Given the description of an element on the screen output the (x, y) to click on. 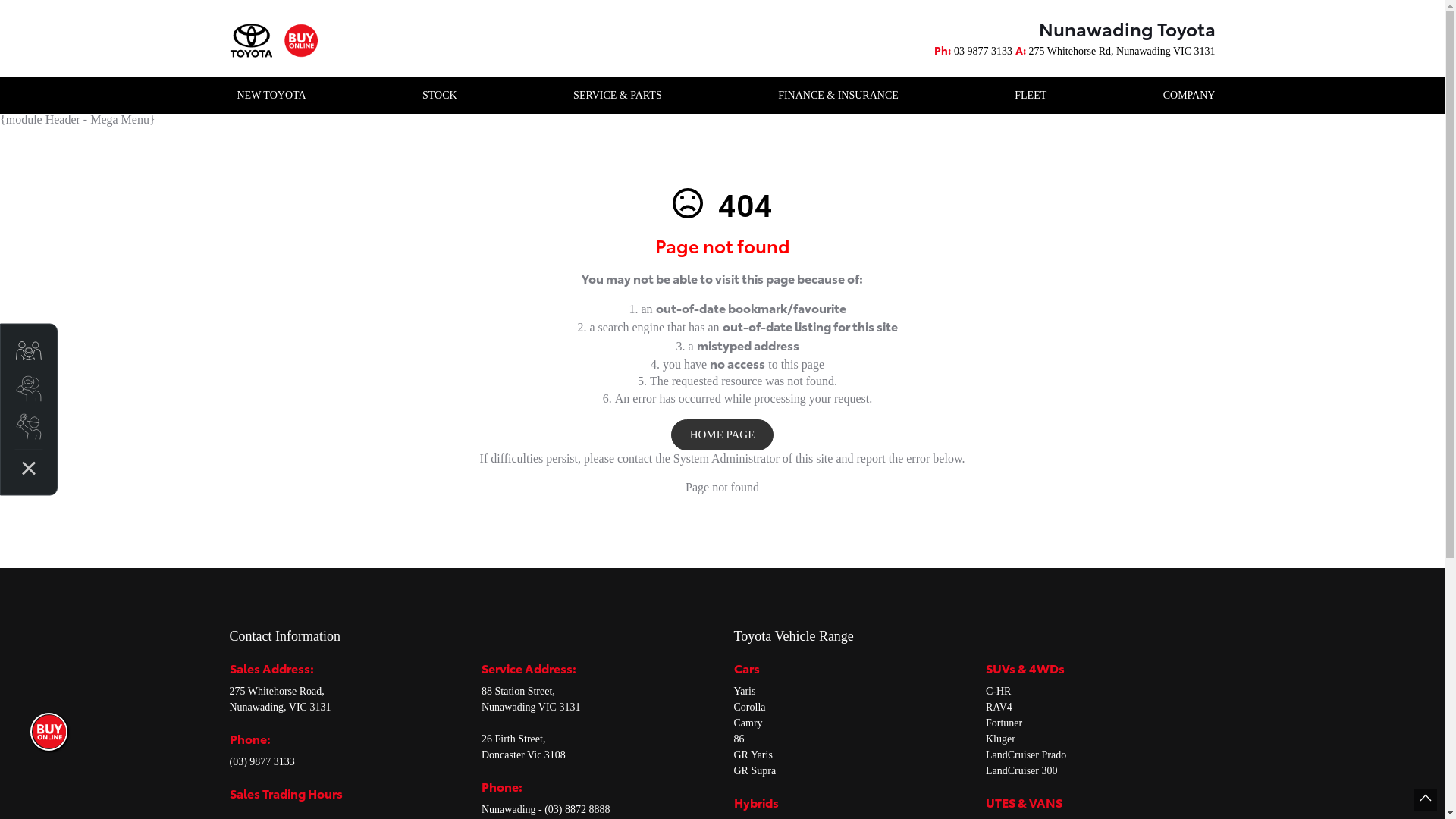
FLEET Element type: text (1030, 95)
86 Element type: text (739, 738)
GR Supra Element type: text (755, 770)
A: 275 Whitehorse Rd, Nunawading VIC 3131 Element type: text (1115, 50)
RAV4 Element type: text (998, 706)
Camry Element type: text (748, 722)
COMPANY Element type: text (1185, 95)
NEW TOYOTA Element type: text (271, 95)
LandCruiser 300 Element type: text (1021, 770)
Fortuner Element type: text (1003, 722)
C-HR Element type: text (997, 690)
SERVICE & PARTS Element type: text (617, 95)
Yaris Element type: text (745, 690)
(03) 9877 3133 Element type: text (261, 761)
Ph: 03 9877 3133 Element type: text (973, 50)
Nunawading - (03) 8872 8888 Element type: text (545, 809)
Corolla Element type: text (749, 706)
Kluger Element type: text (1000, 738)
STOCK Element type: text (439, 95)
FINANCE & INSURANCE Element type: text (838, 95)
HOME PAGE Element type: text (722, 434)
LandCruiser Prado Element type: text (1025, 754)
GR Yaris Element type: text (753, 754)
